Given the description of an element on the screen output the (x, y) to click on. 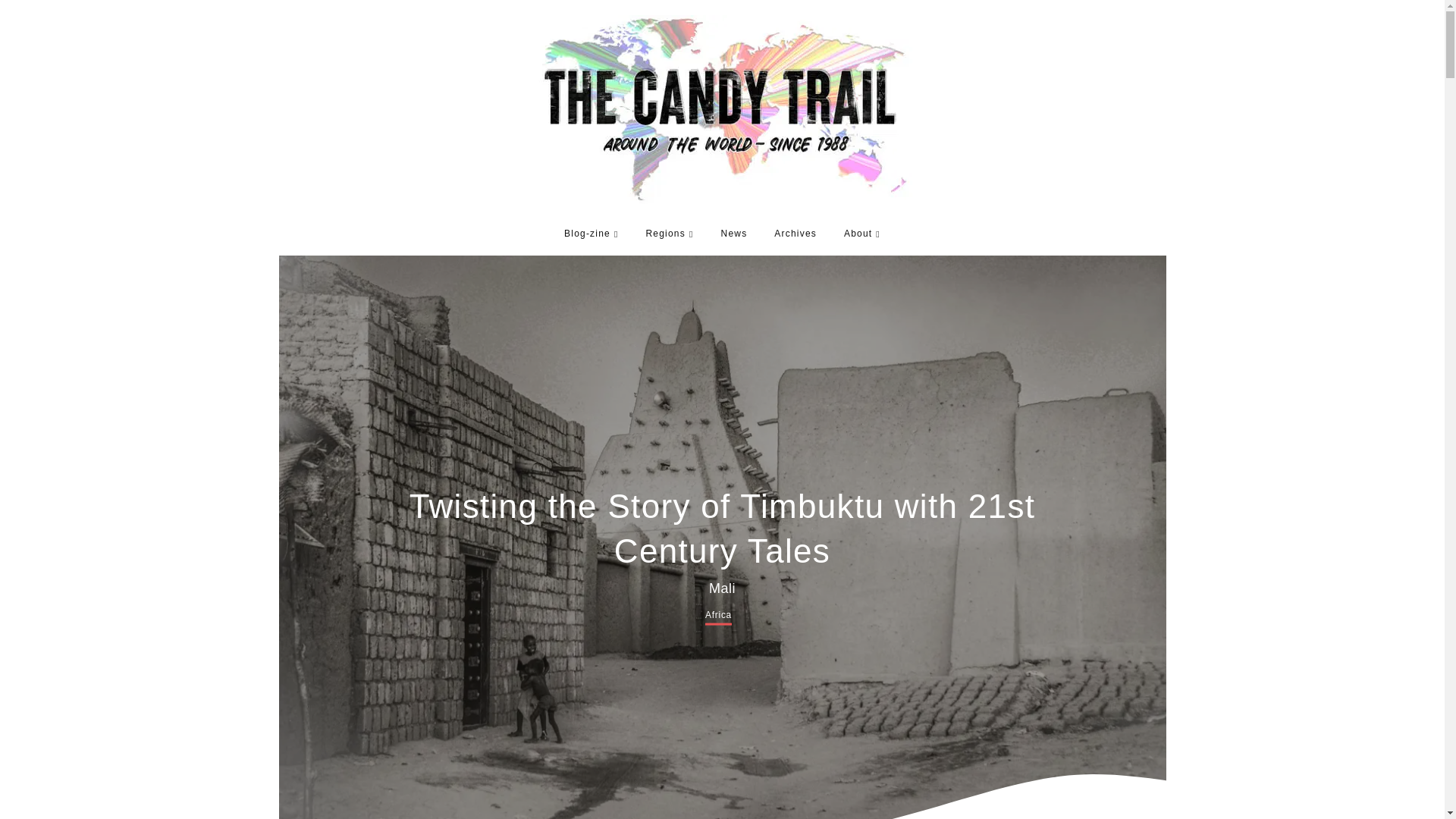
Regions (669, 234)
News (734, 234)
Blog-zine (590, 234)
Africa (718, 616)
About (861, 234)
Archives (794, 234)
